Given the description of an element on the screen output the (x, y) to click on. 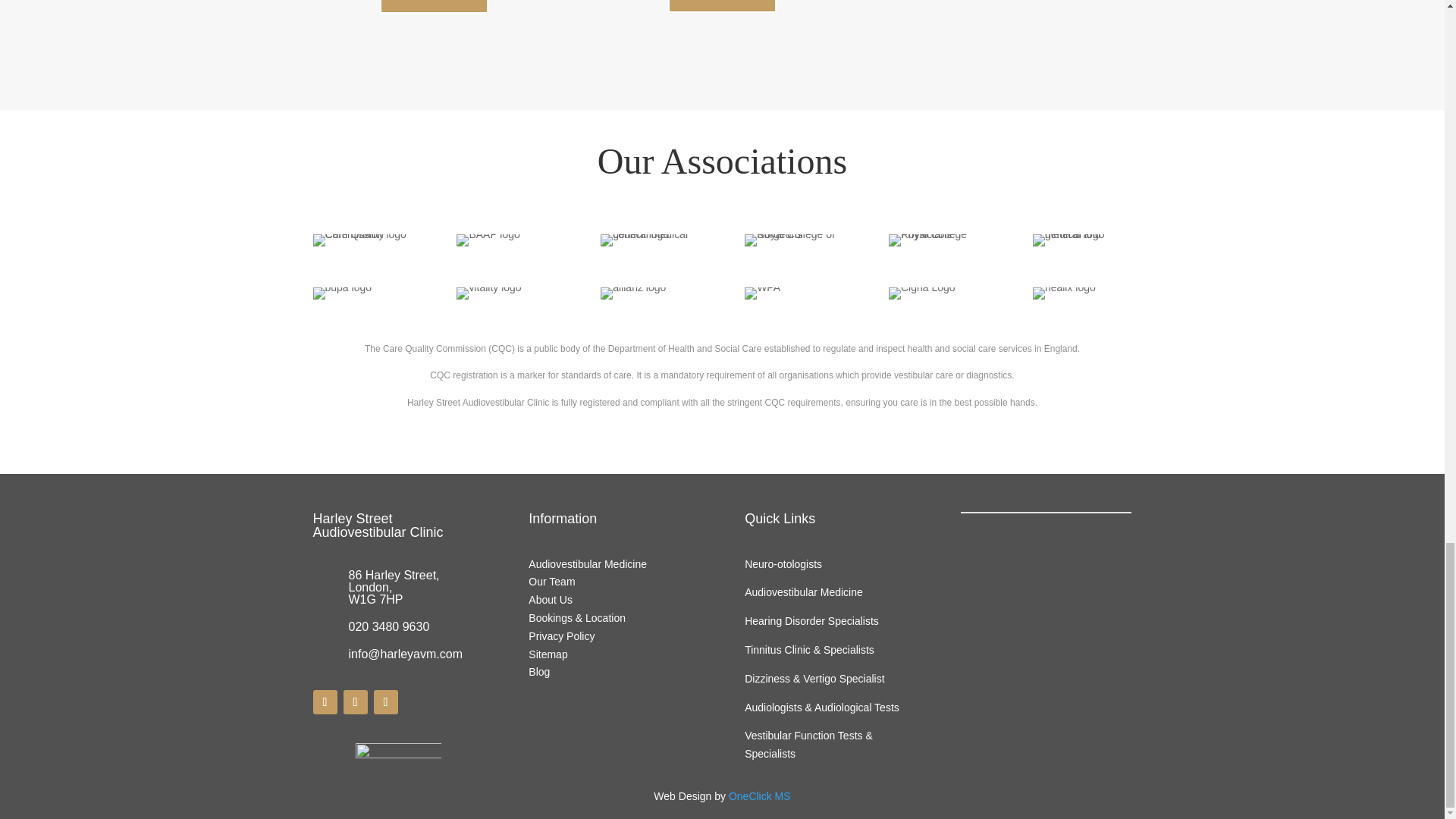
vitality logo (489, 293)
bupa logo (342, 293)
Care Quality Commission logo (361, 240)
Royal College of Surgeons (793, 240)
general medical council logo (648, 240)
Royal College Physicians (937, 240)
BAAP logo (488, 240)
general and medical logo (1081, 240)
